Given the description of an element on the screen output the (x, y) to click on. 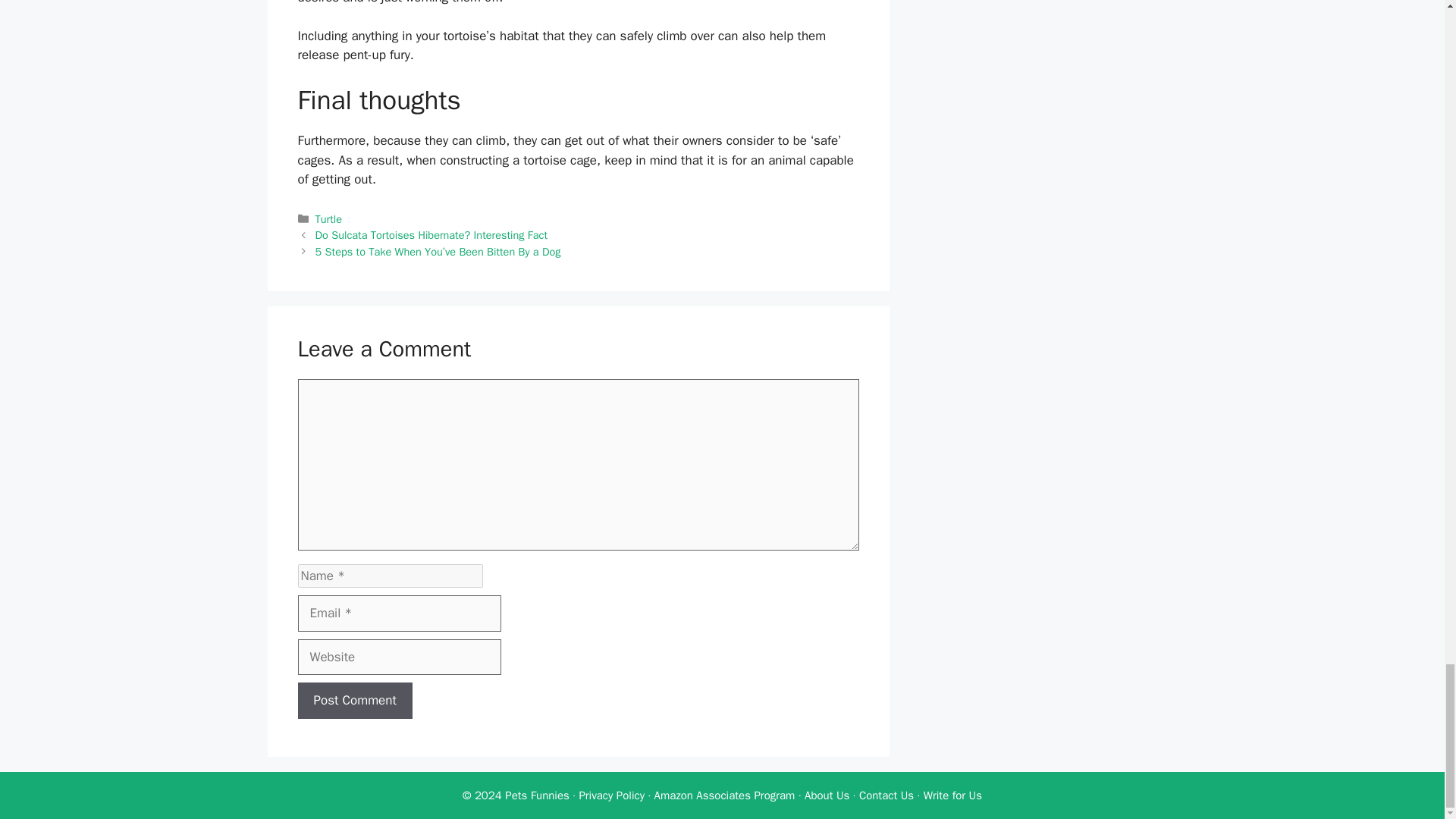
Amazon Associates Program (723, 795)
Contact Us (886, 795)
Post Comment (354, 700)
Do Sulcata Tortoises Hibernate? Interesting Fact (431, 234)
Turtle (328, 219)
Privacy Policy (611, 795)
About Us (826, 795)
Post Comment (354, 700)
